Given the description of an element on the screen output the (x, y) to click on. 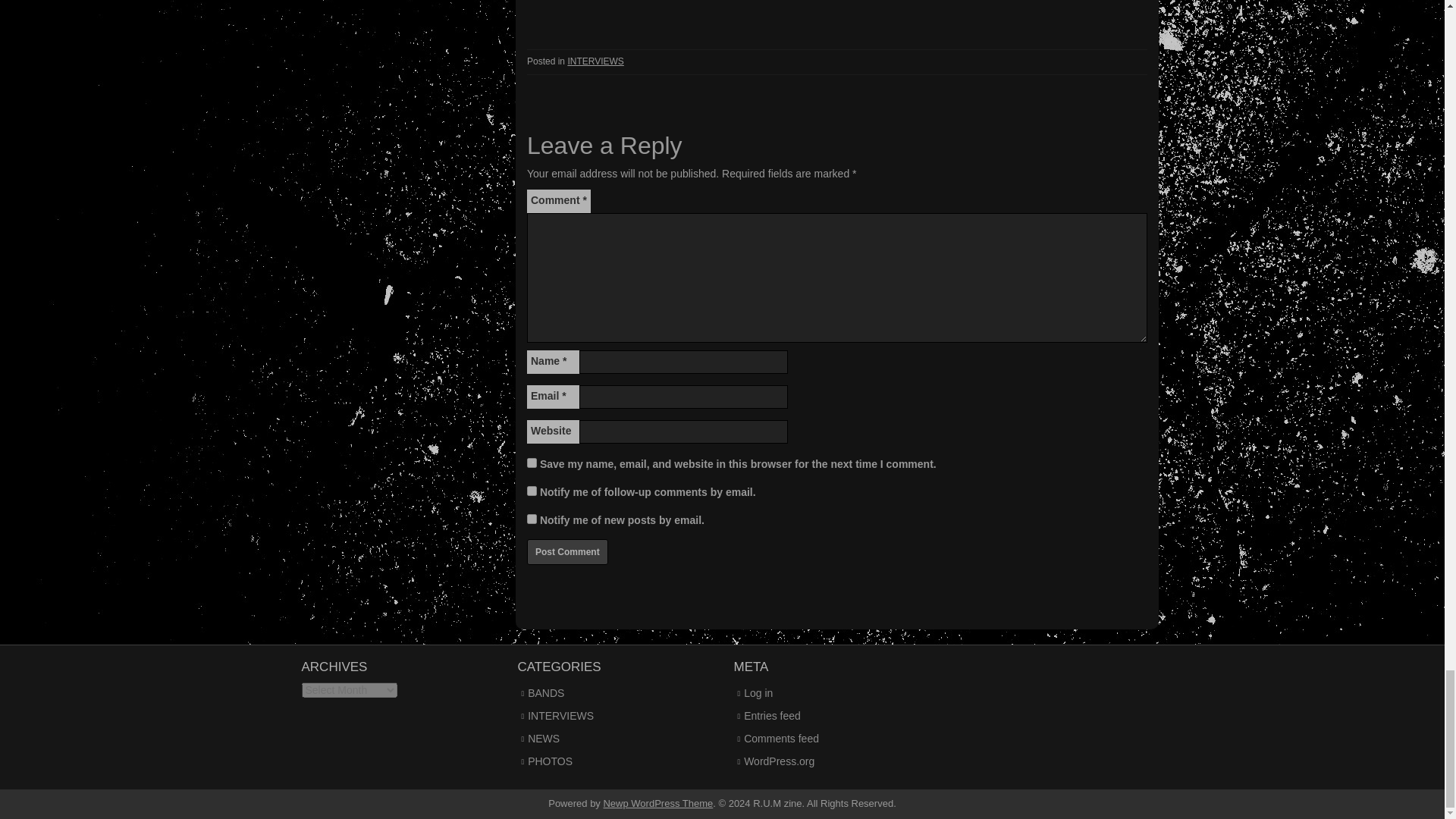
Comments feed (781, 738)
Entries feed (772, 715)
WordPress.org (778, 761)
INTERVIEWS (595, 61)
subscribe (532, 519)
Newp WordPress Theme (657, 803)
PHOTOS (549, 761)
BANDS (545, 693)
Log in (758, 693)
subscribe (532, 491)
Post Comment (567, 551)
Post Comment (567, 551)
yes (532, 461)
INTERVIEWS (560, 715)
NEWS (543, 738)
